Given the description of an element on the screen output the (x, y) to click on. 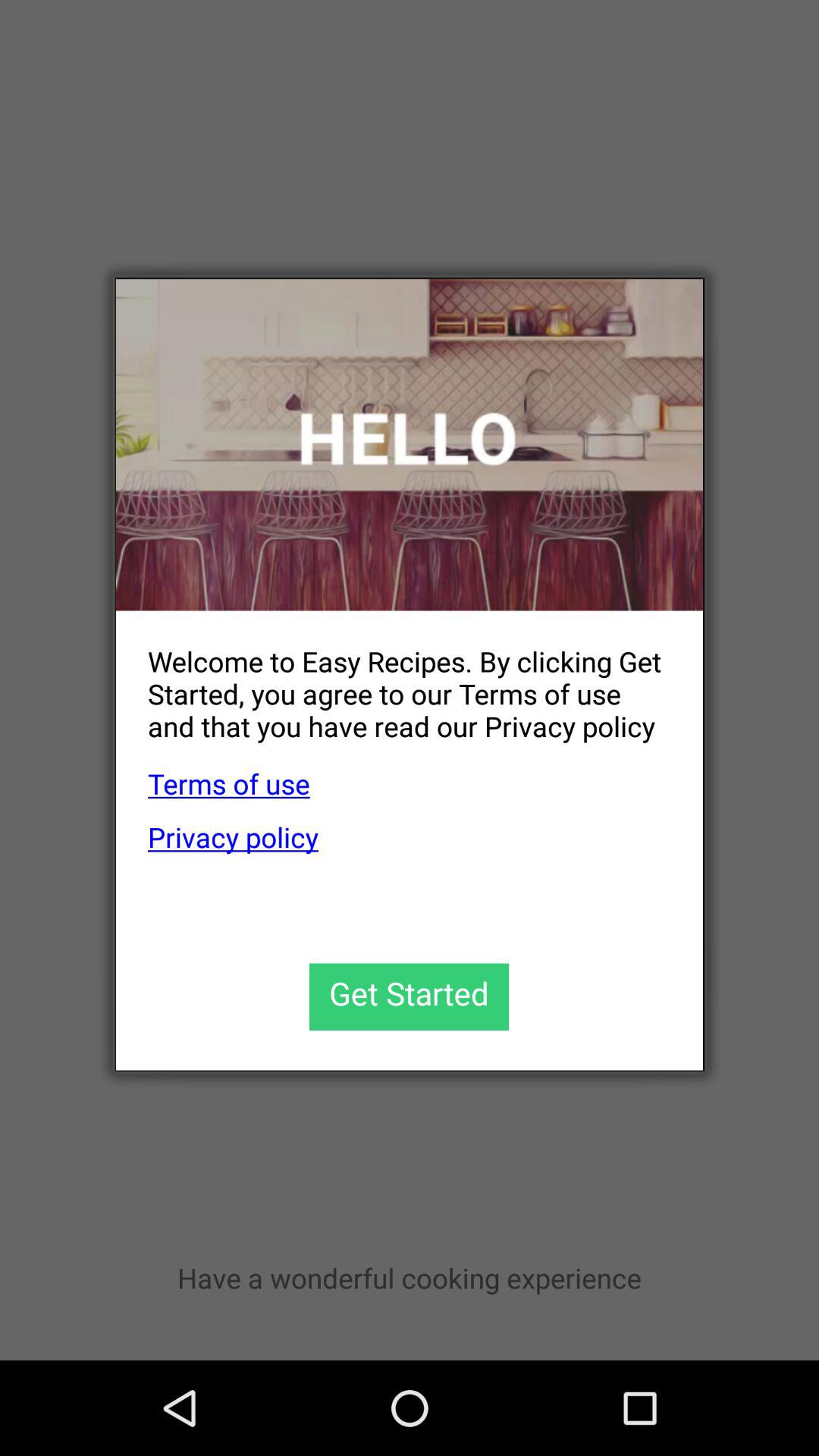
turn off the welcome to easy item (393, 681)
